Given the description of an element on the screen output the (x, y) to click on. 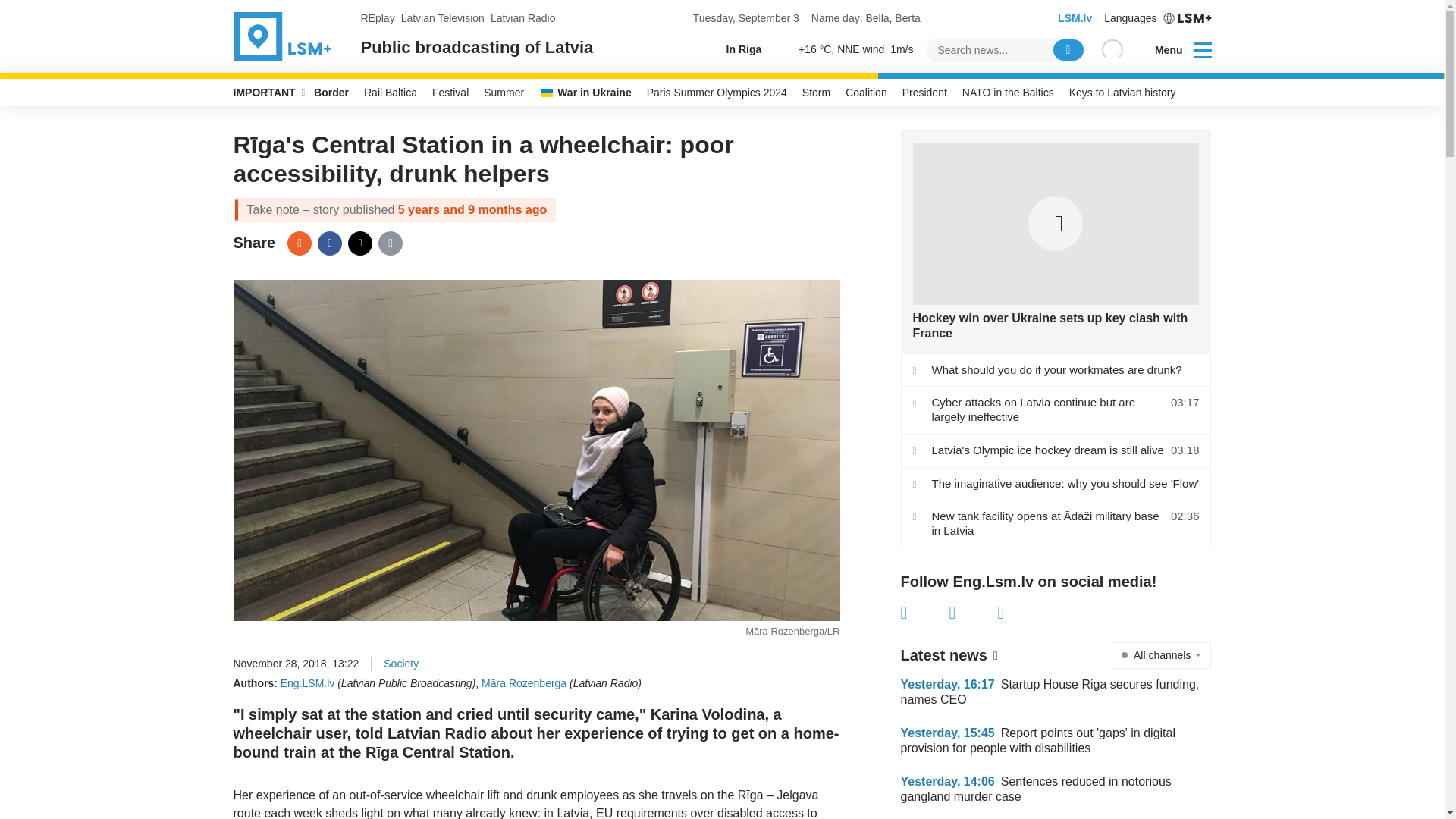
X (359, 242)
War in Ukraine (585, 92)
Storm (816, 92)
NATO in the Baltics (1008, 92)
President (925, 92)
Linkedin (1021, 612)
Keys to Latvian history (1122, 92)
Languages (1157, 18)
Rail Baltica (390, 92)
Facebook (925, 612)
